Given the description of an element on the screen output the (x, y) to click on. 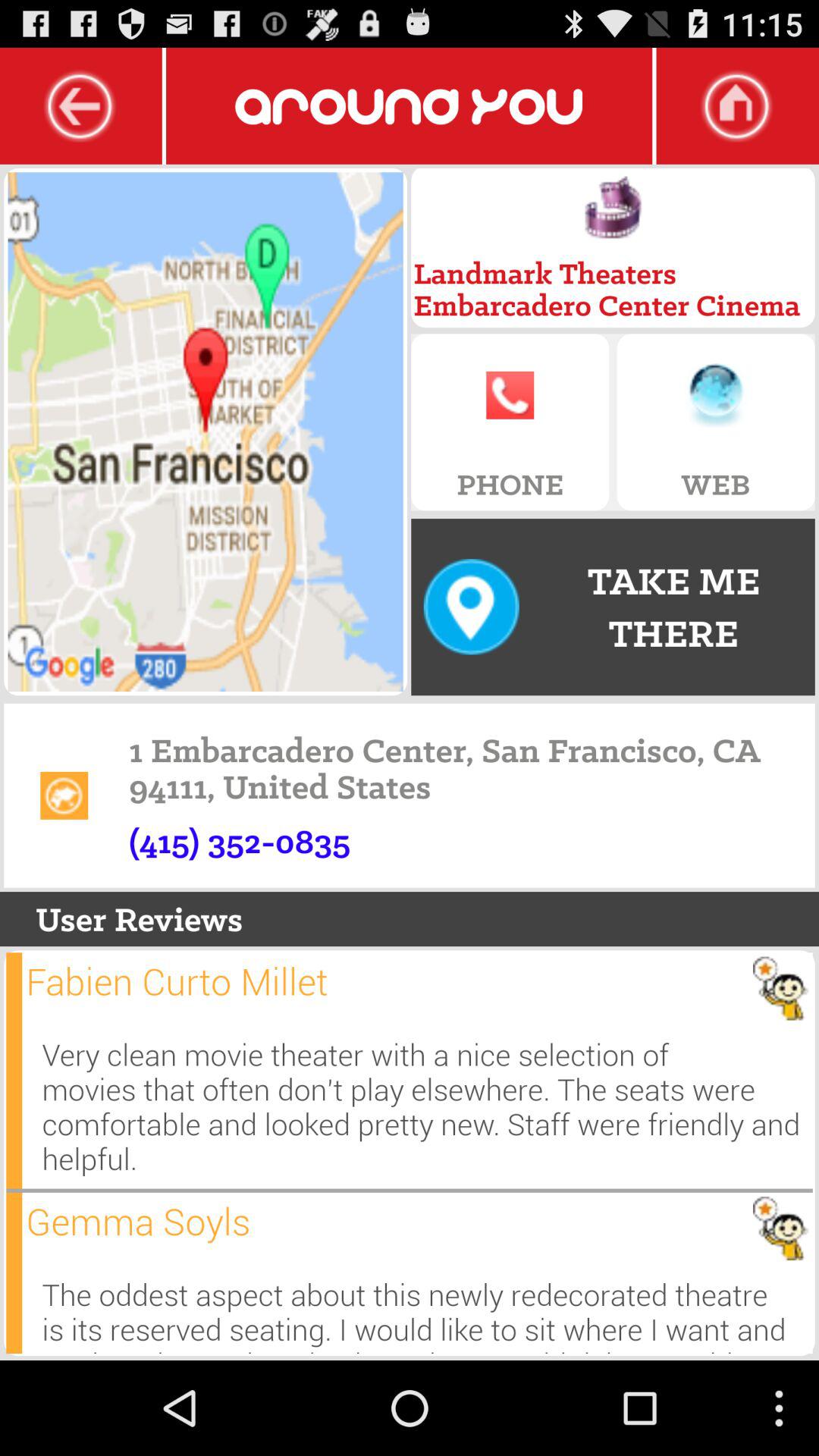
open the oddest aspect (427, 1308)
